Given the description of an element on the screen output the (x, y) to click on. 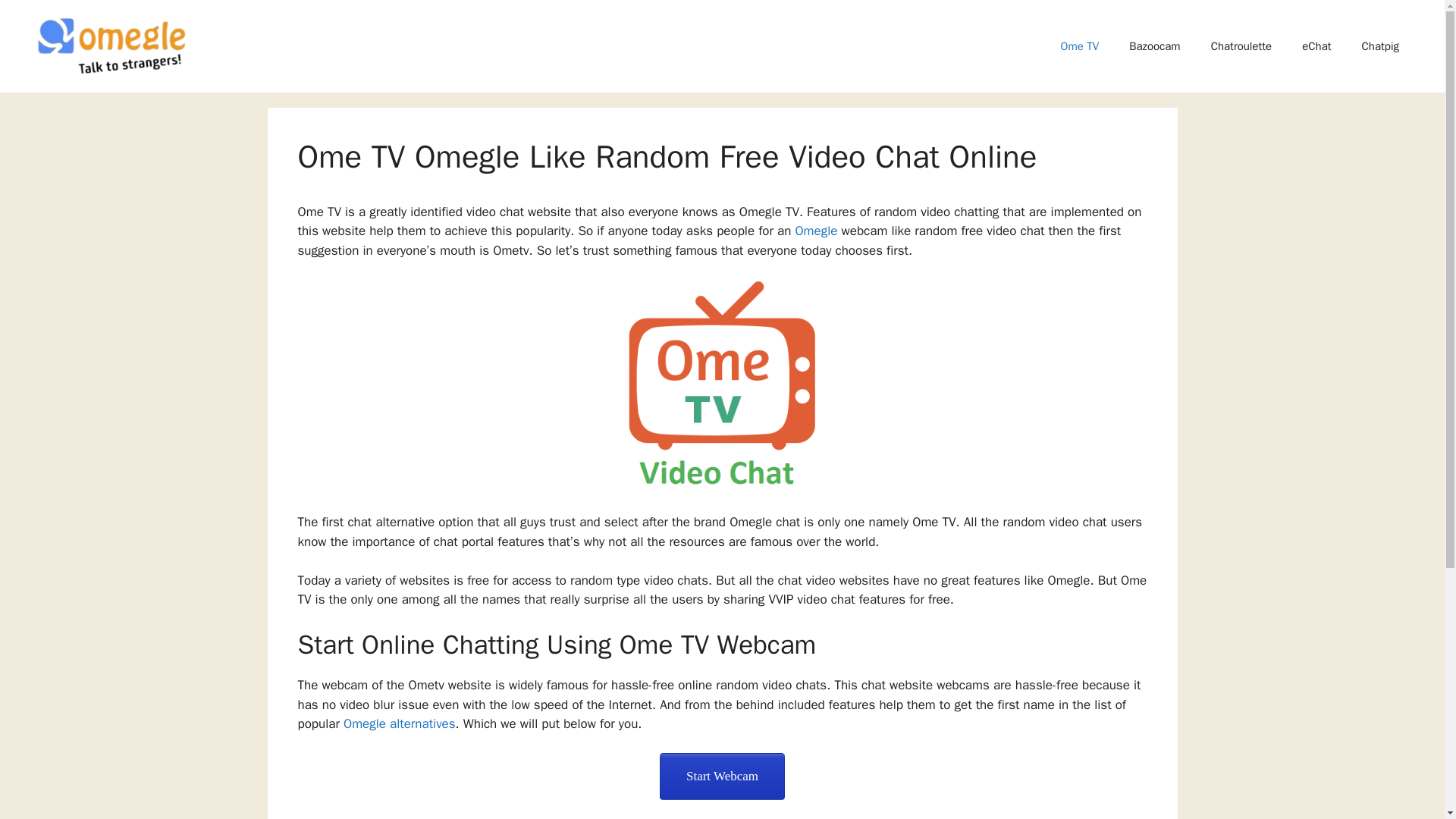
eChat (1316, 45)
Omegle alternatives (399, 723)
Start Webcam (721, 776)
Chatpig (1379, 45)
Bazoocam (1154, 45)
Omegle (815, 230)
Chatroulette (1241, 45)
Ome TV (1080, 45)
